Given the description of an element on the screen output the (x, y) to click on. 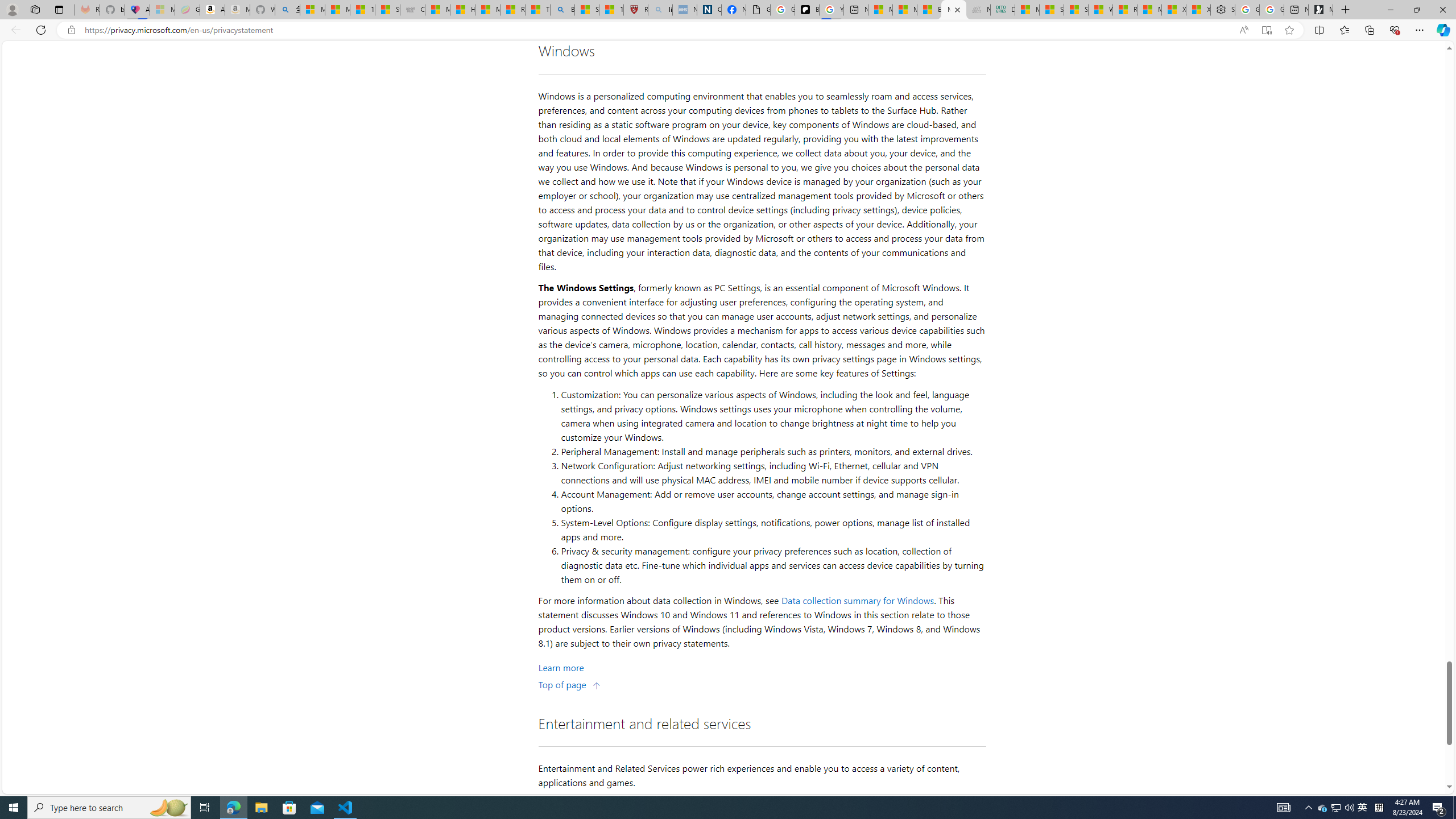
Recipes - MSN (512, 9)
Robert H. Shmerling, MD - Harvard Health (635, 9)
